Given the description of an element on the screen output the (x, y) to click on. 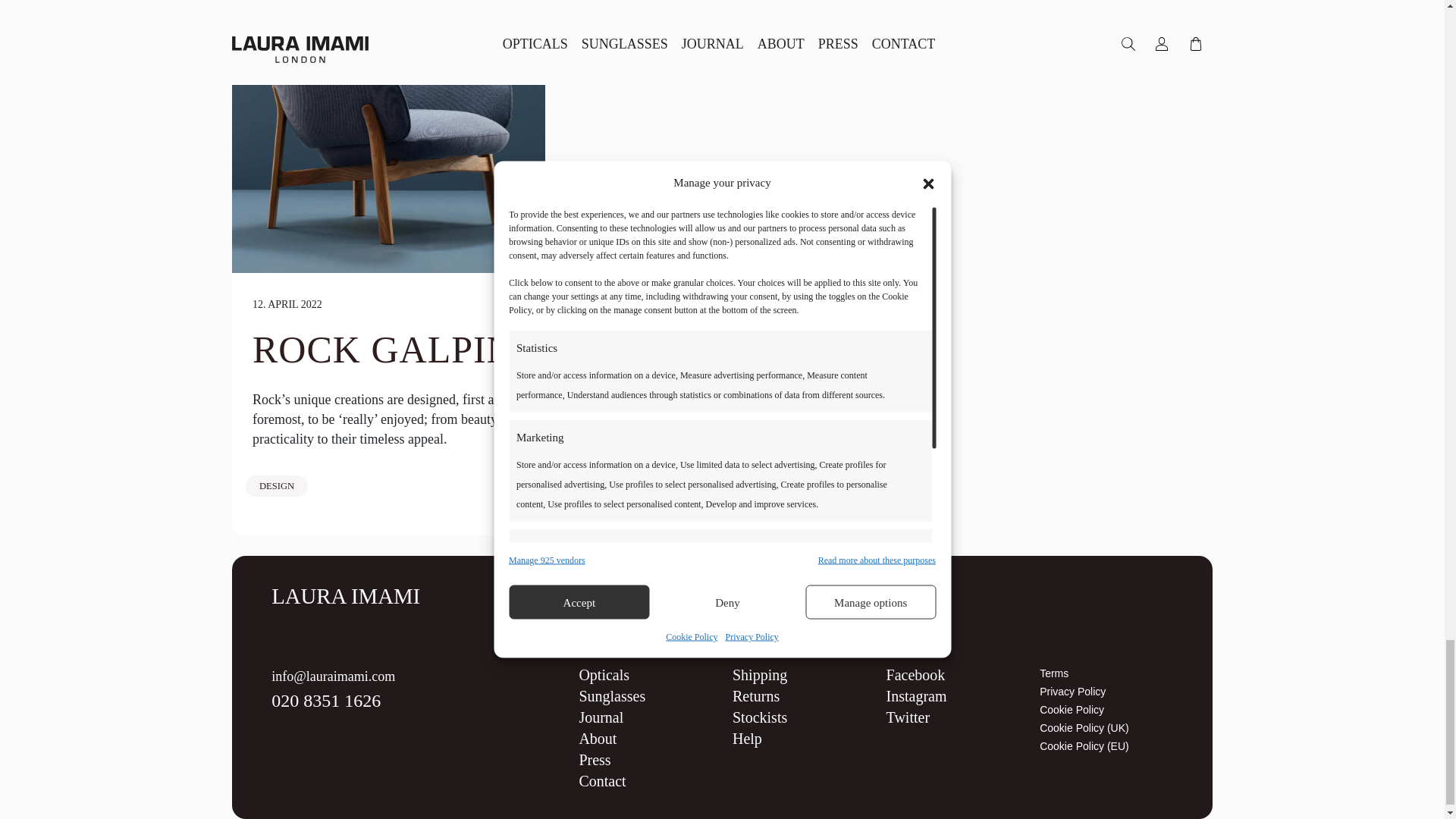
Opticals (603, 674)
DESIGN (276, 485)
ROCK GALPIN (383, 349)
